Given the description of an element on the screen output the (x, y) to click on. 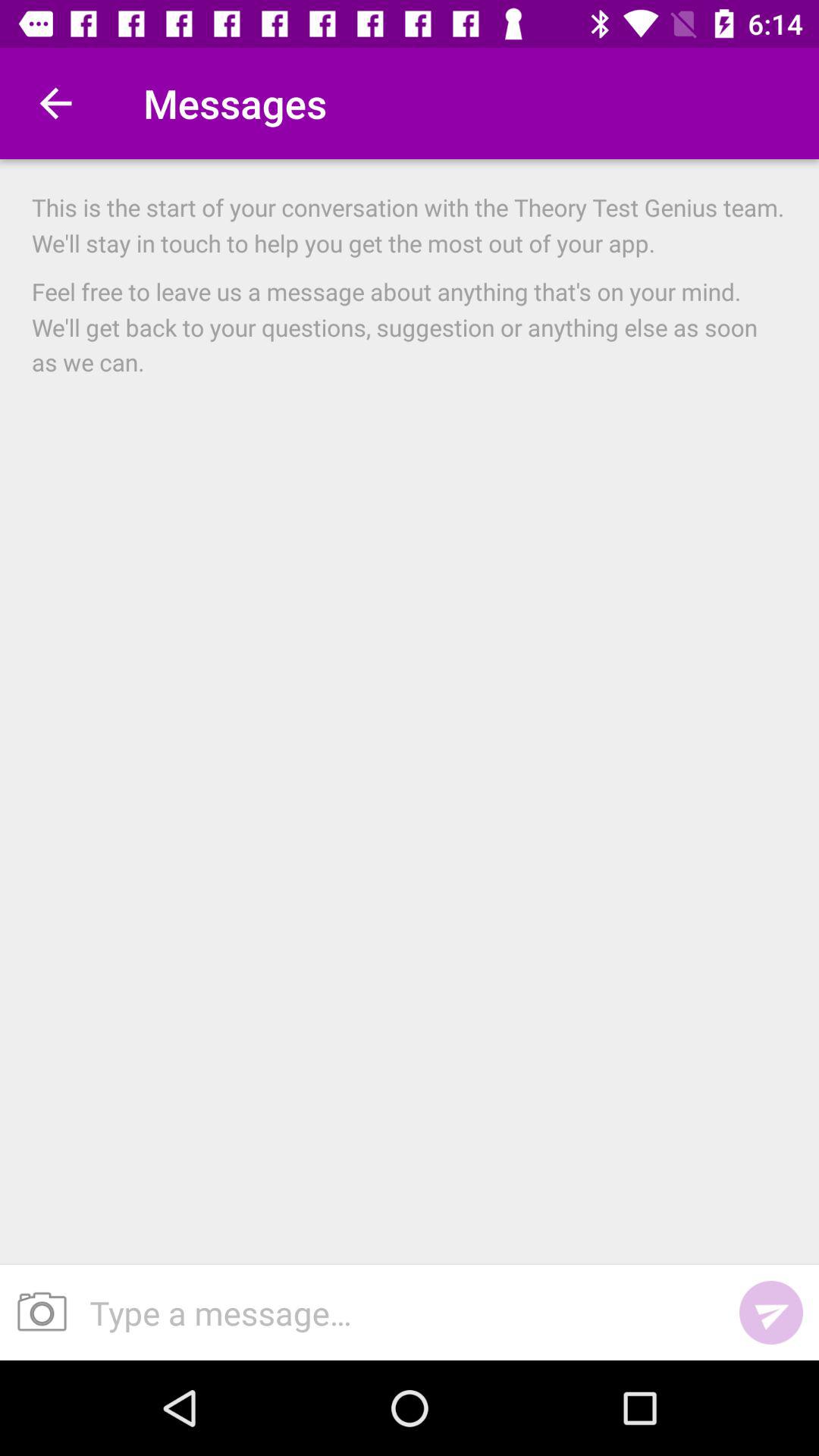
tap the icon below feel free to icon (398, 1312)
